Given the description of an element on the screen output the (x, y) to click on. 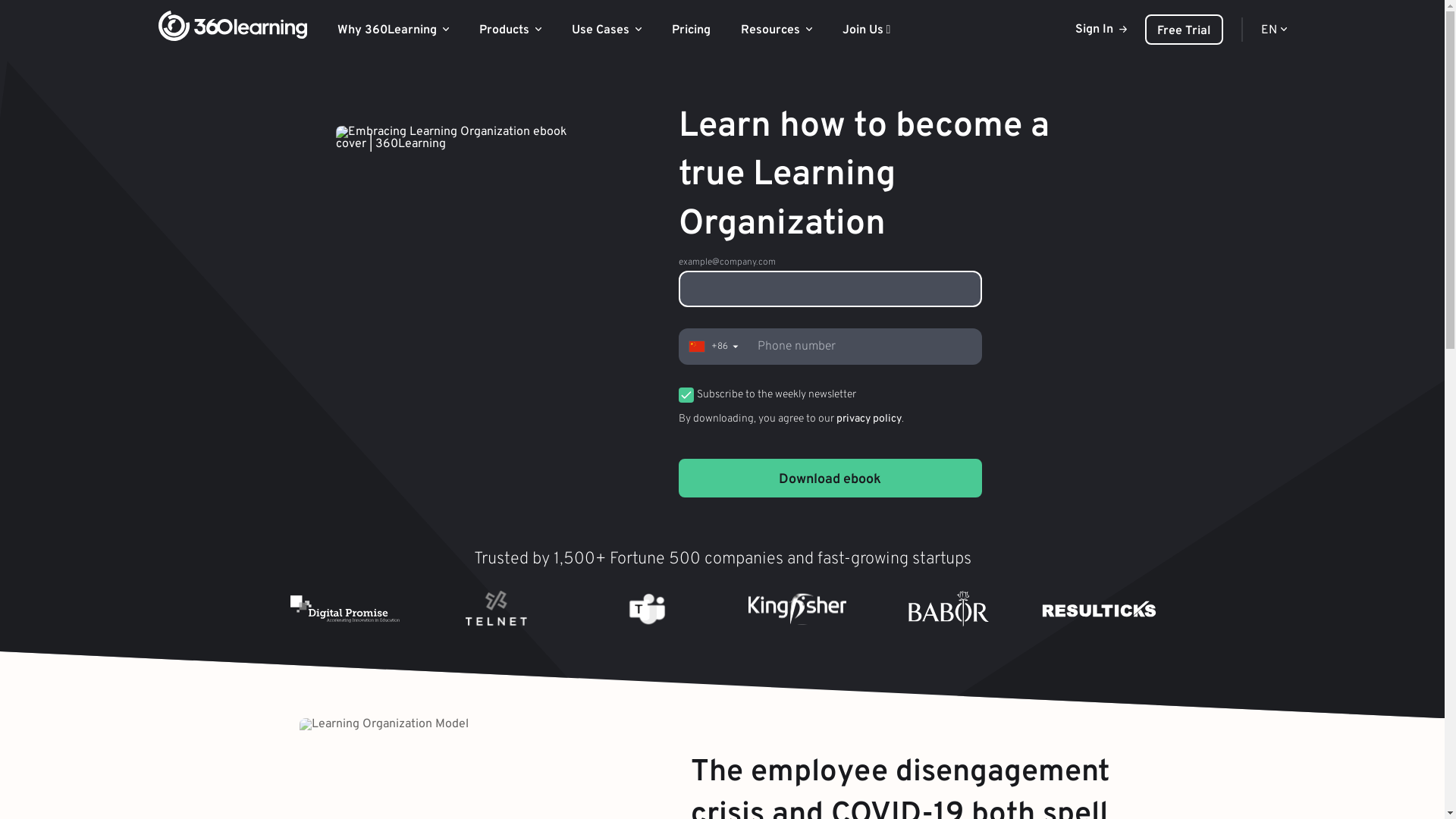
Pricing Element type: text (690, 29)
Download ebook Element type: text (829, 477)
Sign In Element type: text (1100, 29)
Free Trial Element type: text (1184, 29)
privacy policy Element type: text (867, 418)
